Given the description of an element on the screen output the (x, y) to click on. 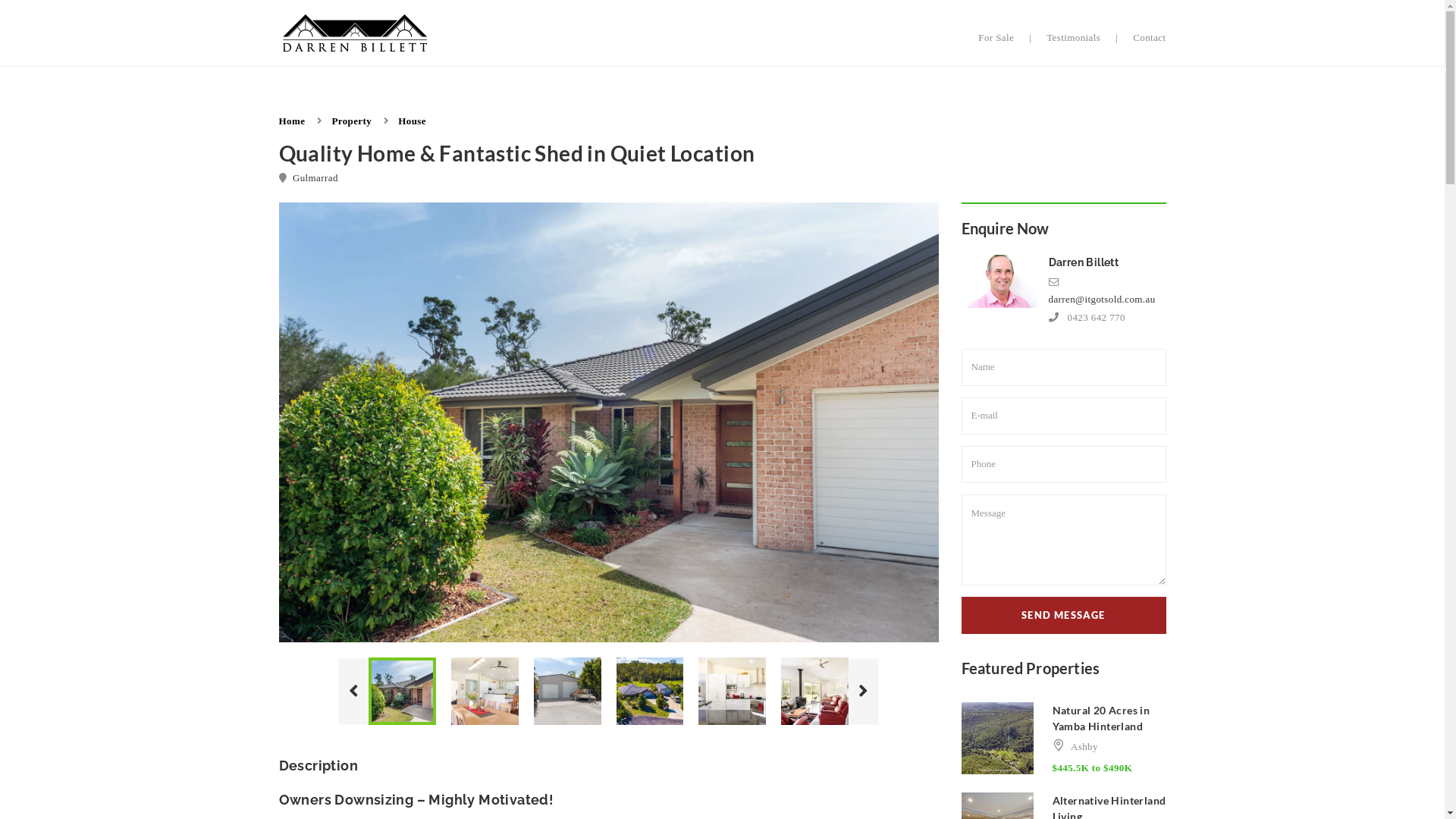
House Element type: text (412, 120)
darren@itgotsold.com.au Element type: text (1101, 298)
Testimonials Element type: text (1073, 37)
Contact Element type: text (1148, 37)
For Sale Element type: text (995, 37)
SEND MESSAGE Element type: text (1063, 614)
Property Element type: text (351, 120)
Ashby Element type: text (1084, 746)
Darren Billett Element type: text (1083, 262)
Gulmarrad Element type: text (315, 177)
Natural 20 Acres in Yamba Hinterland Element type: text (1101, 717)
Home Element type: text (292, 120)
